Given the description of an element on the screen output the (x, y) to click on. 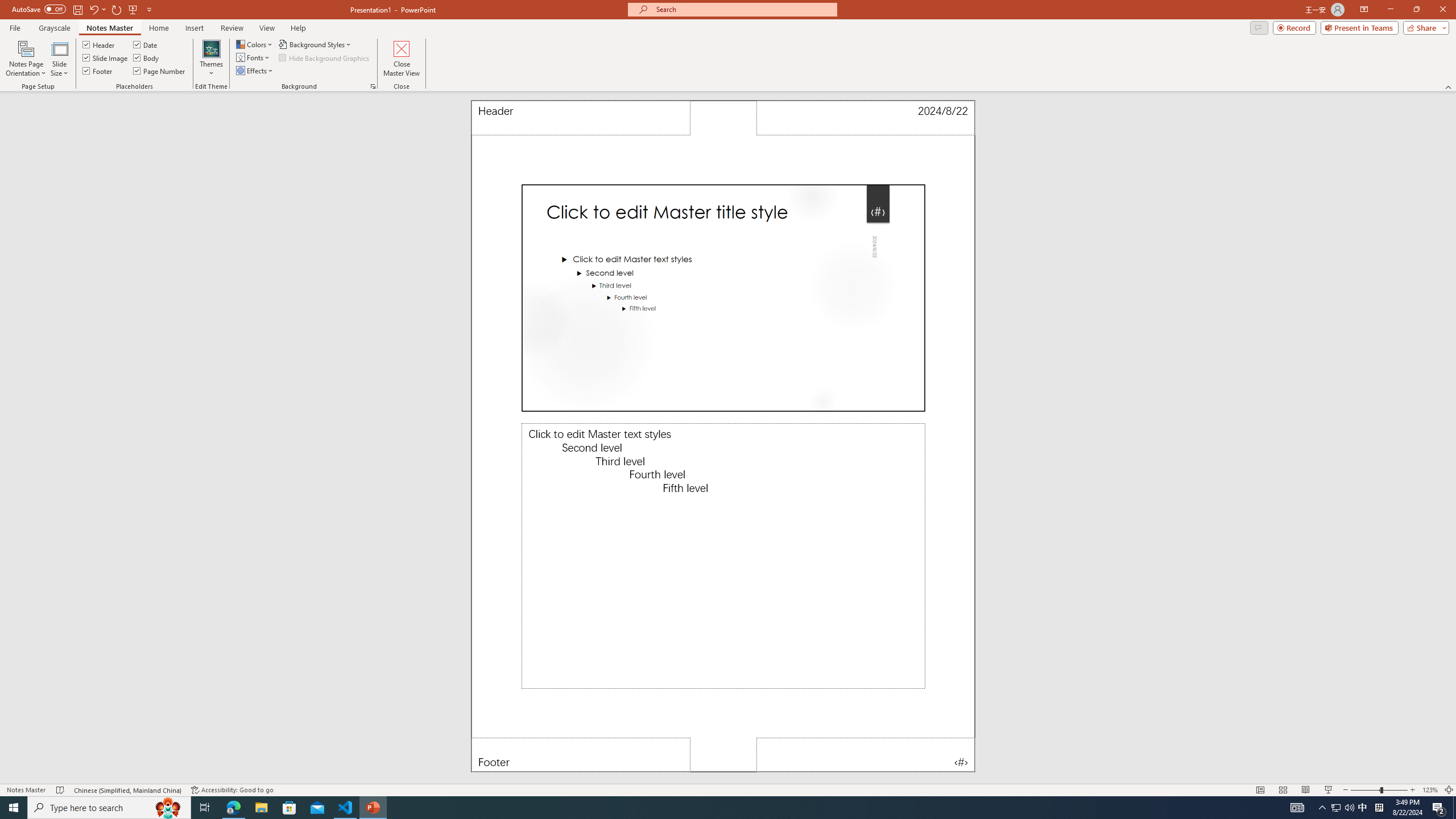
Slide Image (105, 56)
Page Number (866, 754)
Colors (255, 44)
Hide Background Graphics (324, 56)
Footer (98, 69)
Date (866, 117)
Accessibility Checker Accessibility: Good to go (232, 790)
Format Background... (372, 85)
